Given the description of an element on the screen output the (x, y) to click on. 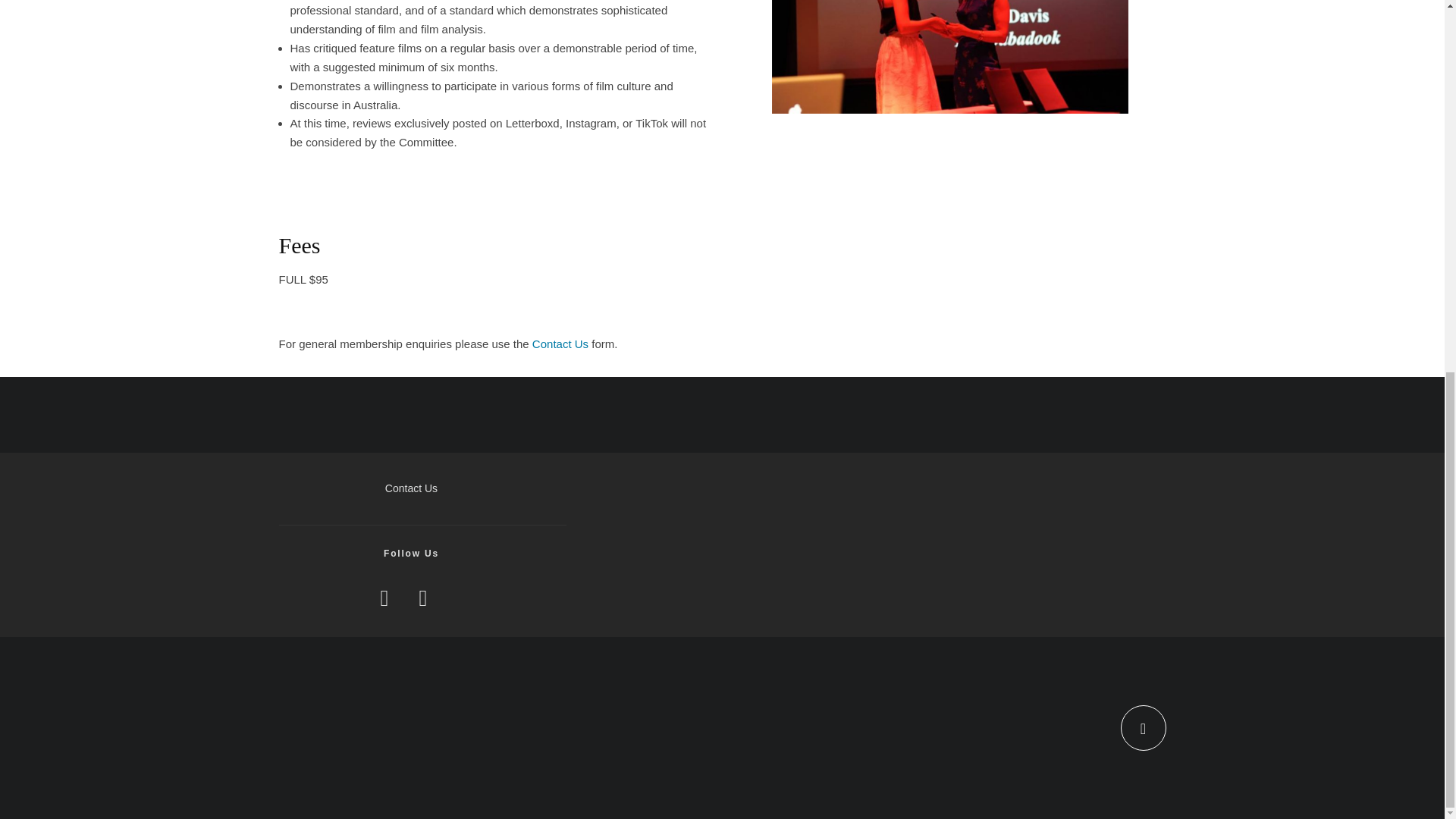
Contact Us (560, 343)
Contact Us (411, 488)
